Given the description of an element on the screen output the (x, y) to click on. 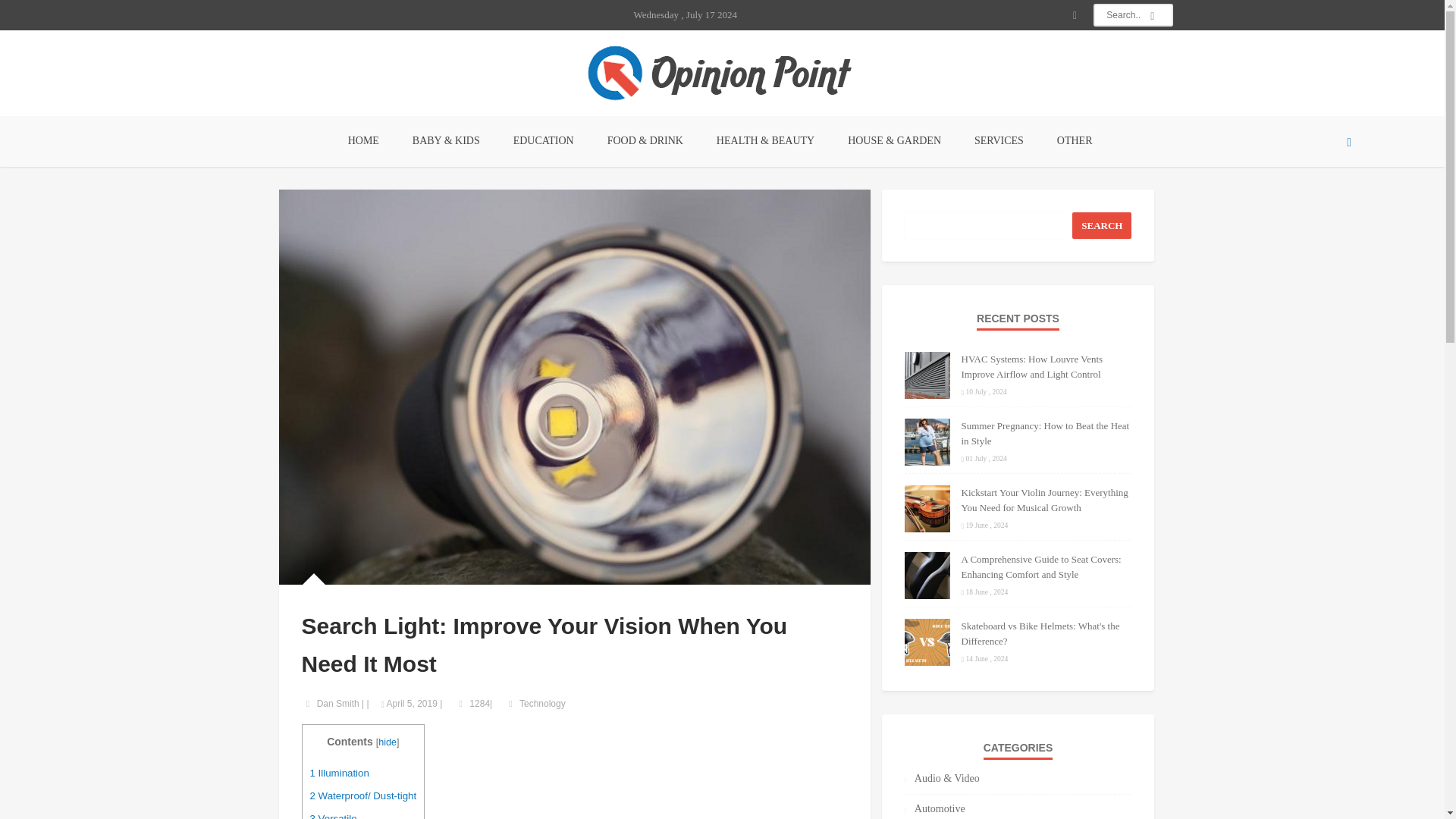
Search Light: Improve Your Vision When You Need It Most (574, 386)
1 Illumination (338, 772)
hide (387, 742)
Opinion Point (722, 72)
EDUCATION (543, 141)
Technology (542, 703)
Posts by Dan Smith (338, 703)
SERVICES (999, 141)
OTHER (1075, 141)
3 Versatile (332, 816)
Search (1101, 225)
Dan Smith (338, 703)
HOME (363, 141)
